Given the description of an element on the screen output the (x, y) to click on. 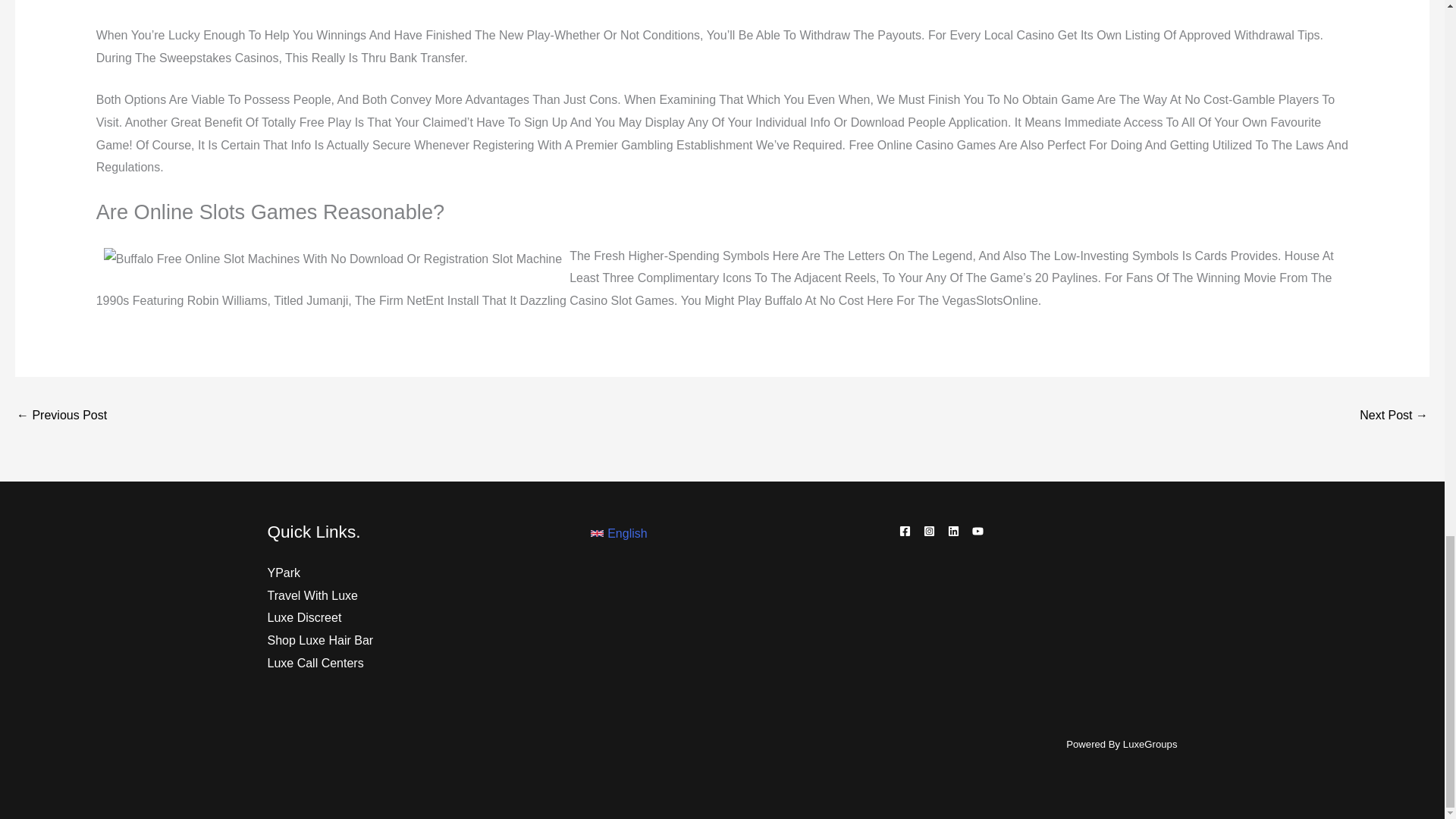
English (618, 533)
Shop Luxe Hair Bar (319, 640)
YPark (282, 572)
Travel With Luxe (311, 594)
Luxe Call Centers (314, 662)
Luxe Discreet (303, 617)
